Given the description of an element on the screen output the (x, y) to click on. 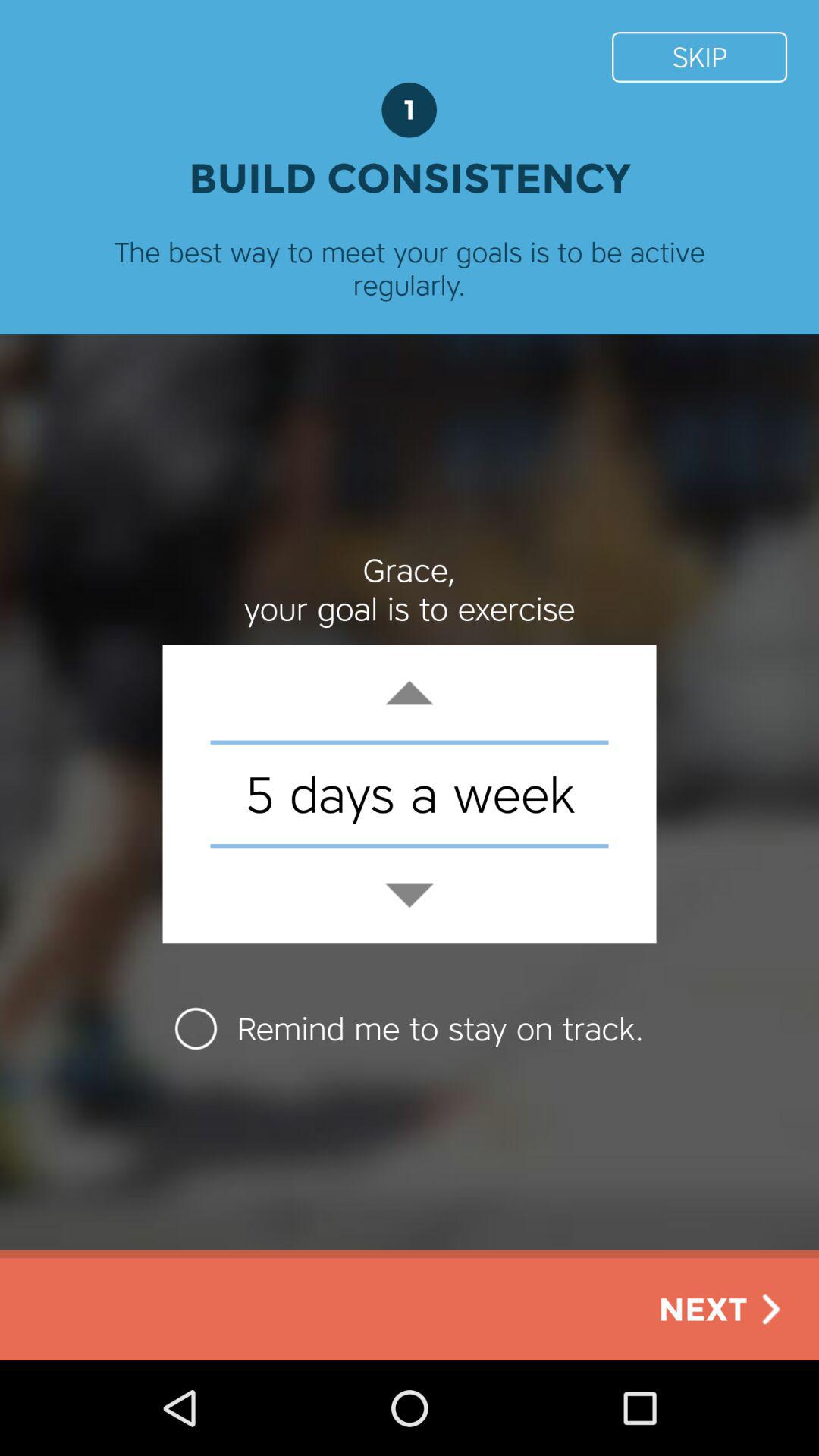
choose the 5 days a icon (409, 794)
